Given the description of an element on the screen output the (x, y) to click on. 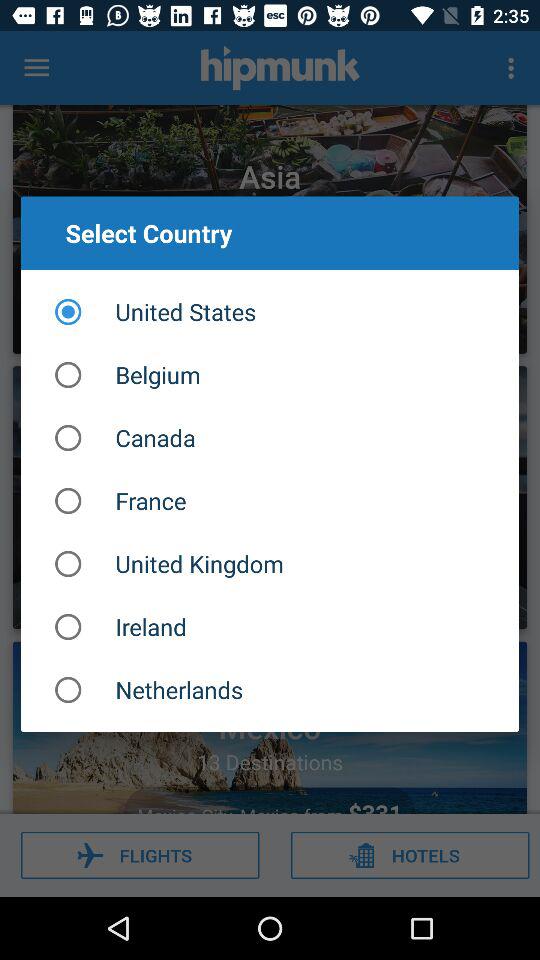
turn off icon above ireland icon (270, 563)
